Given the description of an element on the screen output the (x, y) to click on. 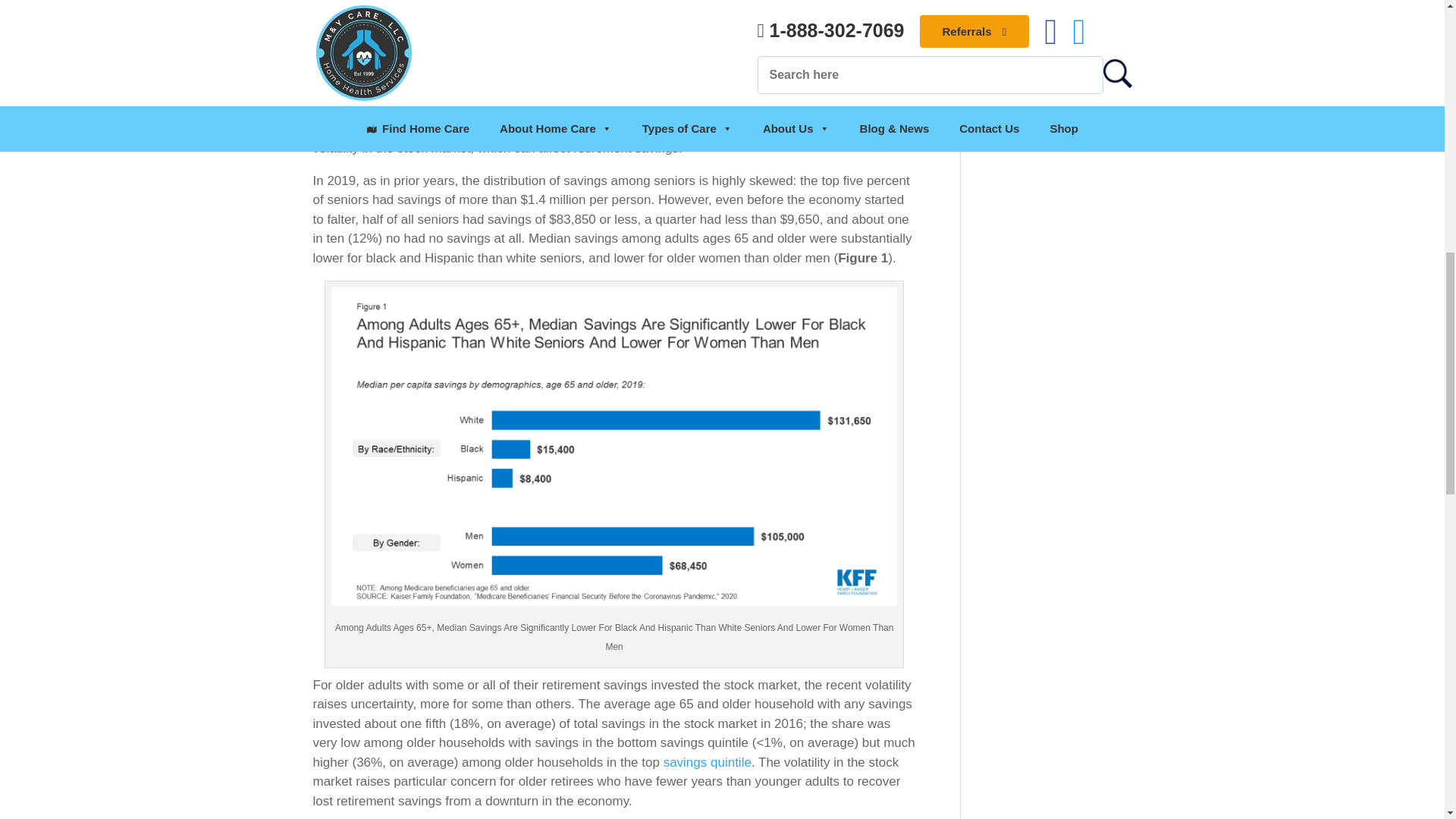
new data (463, 90)
will get lower monthly payments (494, 57)
savings quintile (707, 762)
